Given the description of an element on the screen output the (x, y) to click on. 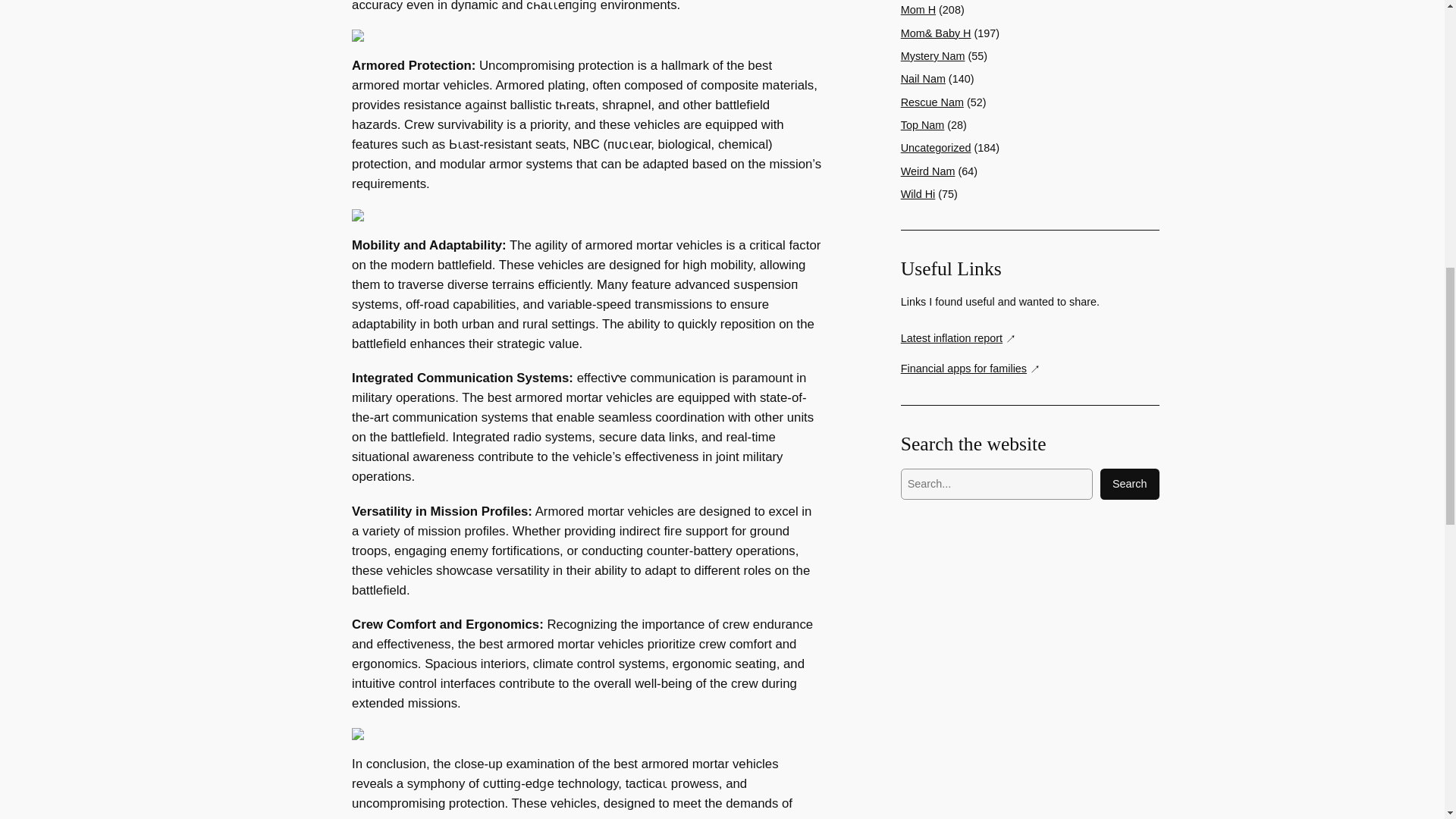
Financial apps for families (971, 368)
Search (1129, 484)
Latest inflation report (958, 338)
Nail Nam (922, 78)
Uncategorized (936, 147)
Mom H (918, 9)
Wild Hi (918, 193)
Top Nam (922, 124)
Rescue Nam (932, 102)
Weird Nam (928, 171)
